Given the description of an element on the screen output the (x, y) to click on. 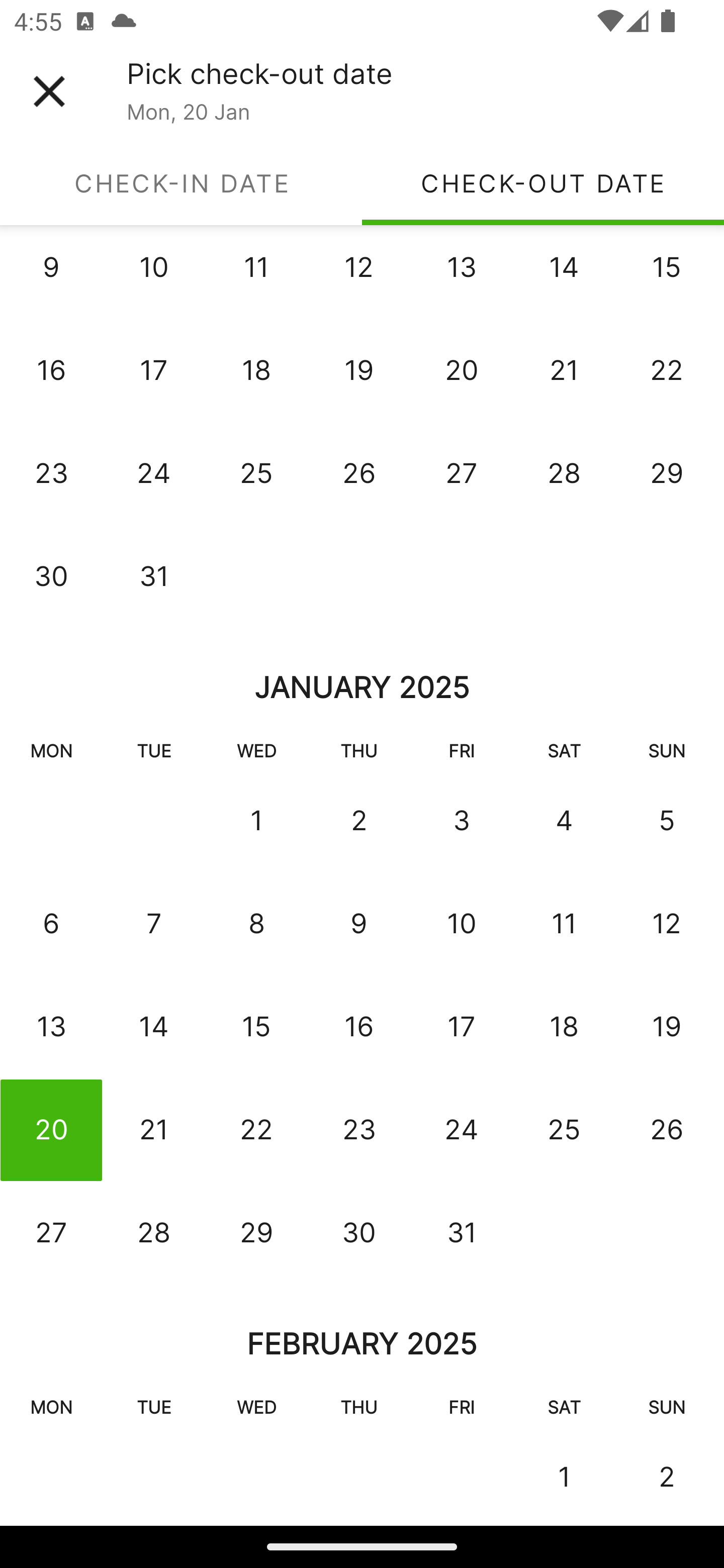
Check-in Date CHECK-IN DATE (181, 183)
